Given the description of an element on the screen output the (x, y) to click on. 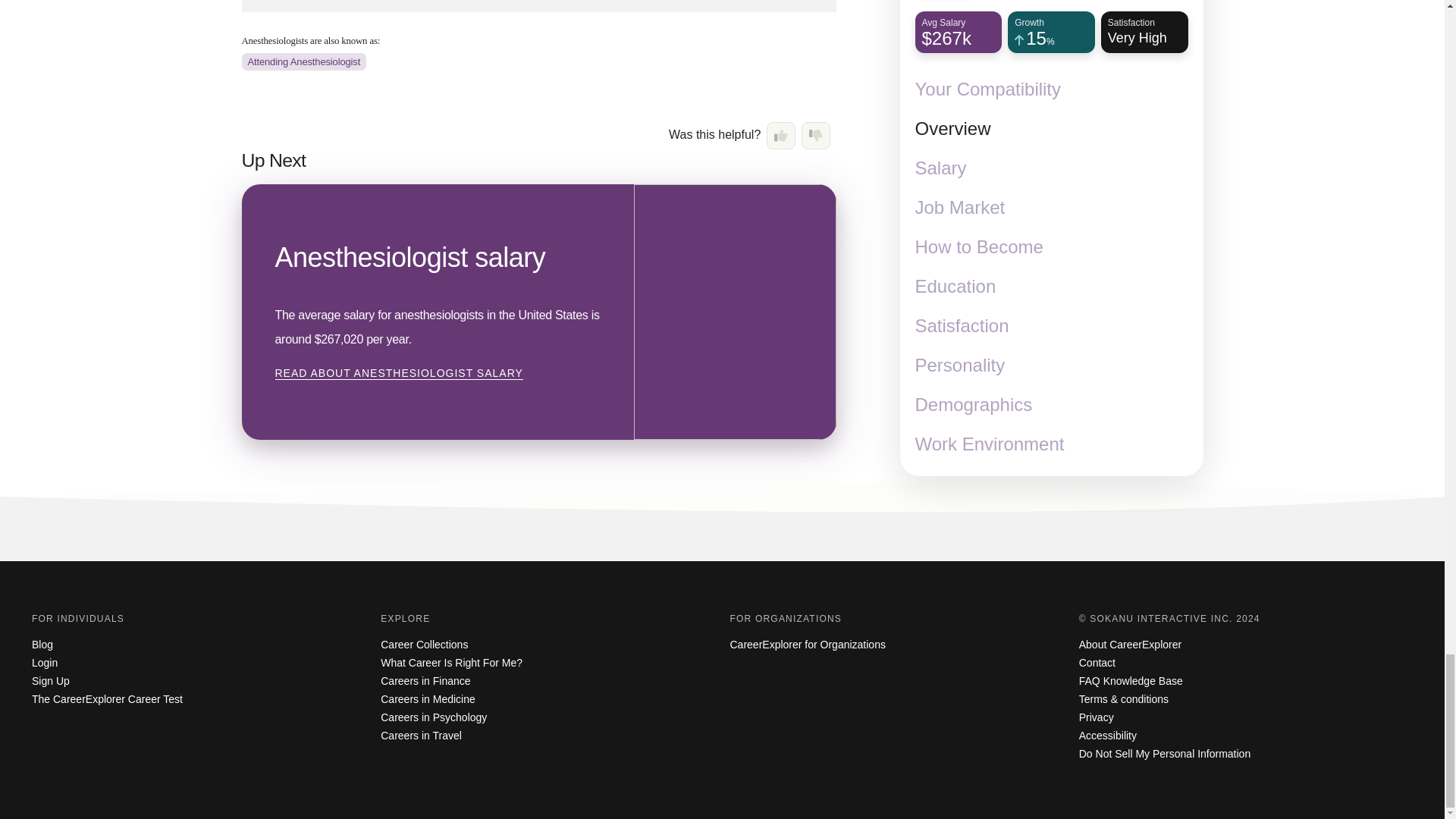
not interesting (815, 135)
interesting (780, 135)
